Given the description of an element on the screen output the (x, y) to click on. 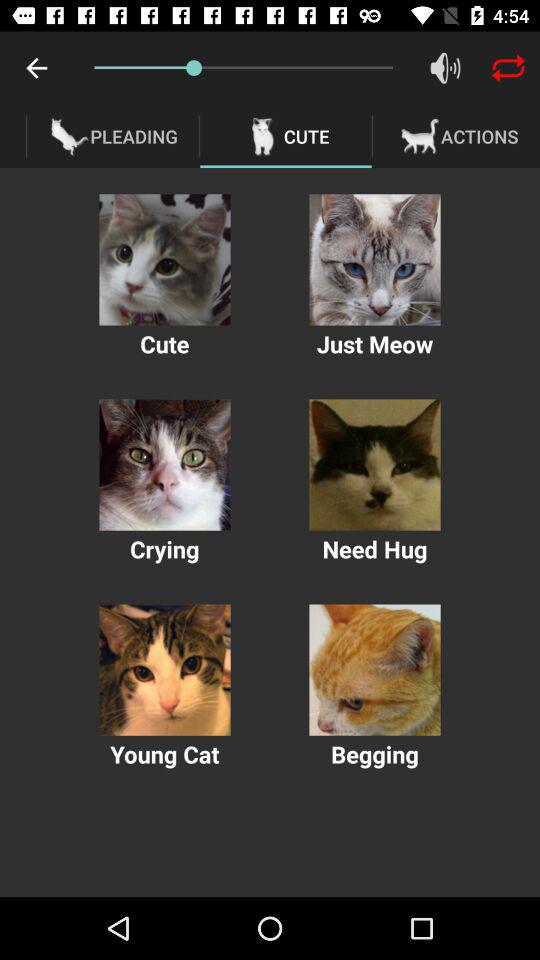
select the item above the actions item (508, 67)
